Given the description of an element on the screen output the (x, y) to click on. 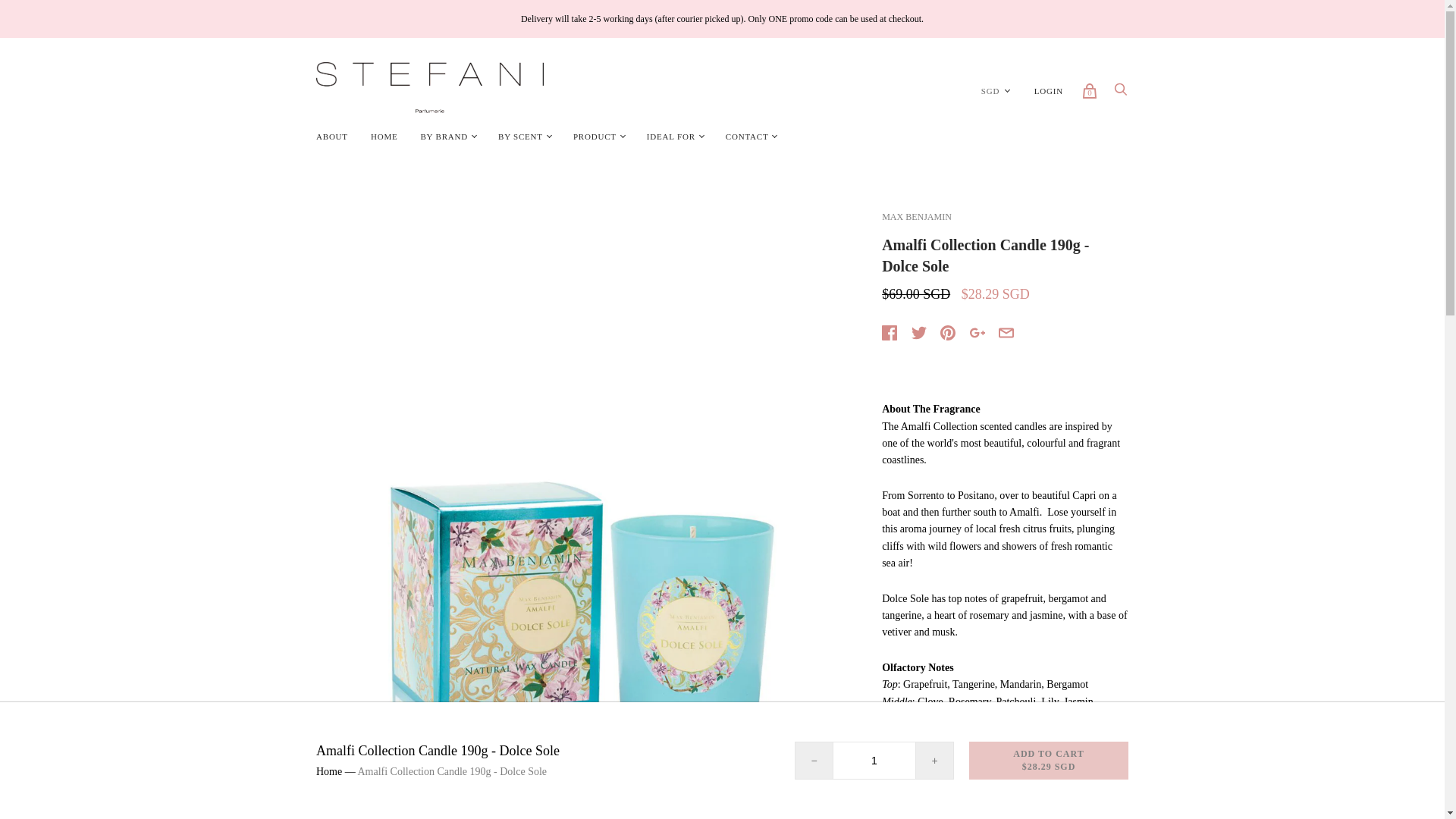
HOME (384, 136)
IDEAL FOR (670, 136)
Home (328, 771)
1 (873, 760)
BY BRAND (444, 136)
CONTACT (747, 136)
PRODUCT (594, 136)
BY SCENT (520, 136)
ABOUT (331, 136)
